Given the description of an element on the screen output the (x, y) to click on. 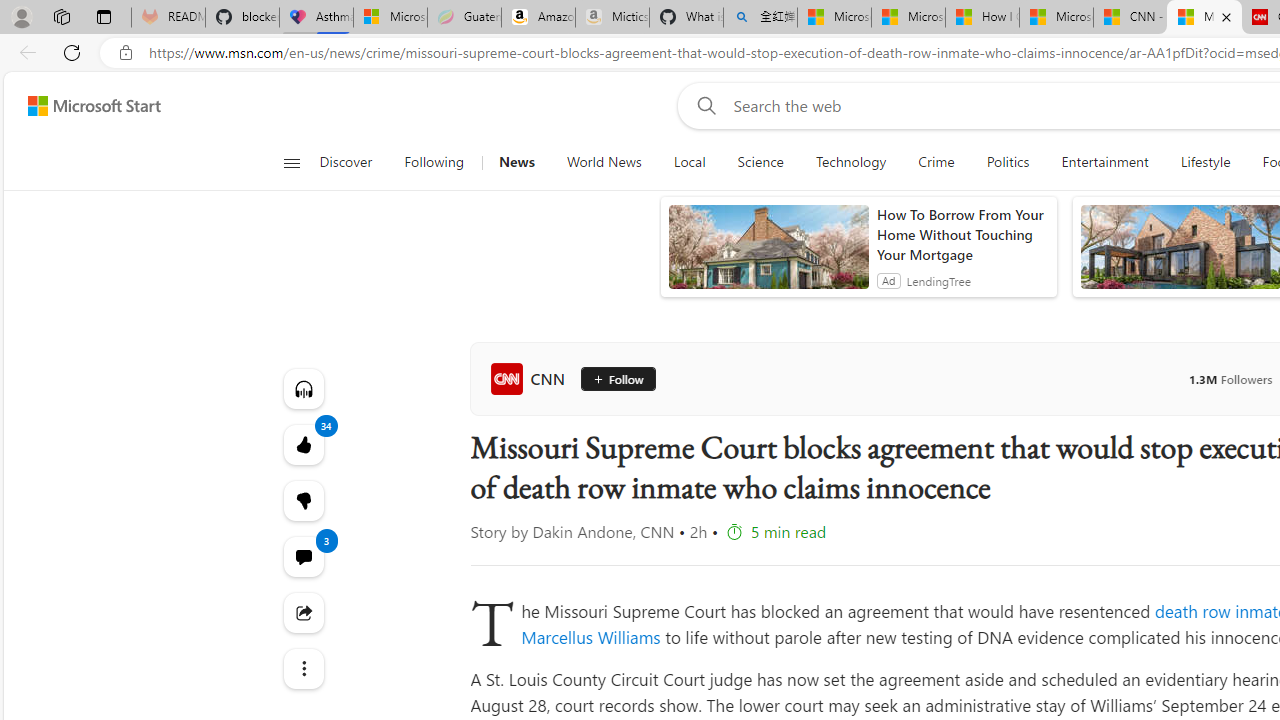
Lifestyle (1204, 162)
Science (760, 162)
Following (433, 162)
